Given the description of an element on the screen output the (x, y) to click on. 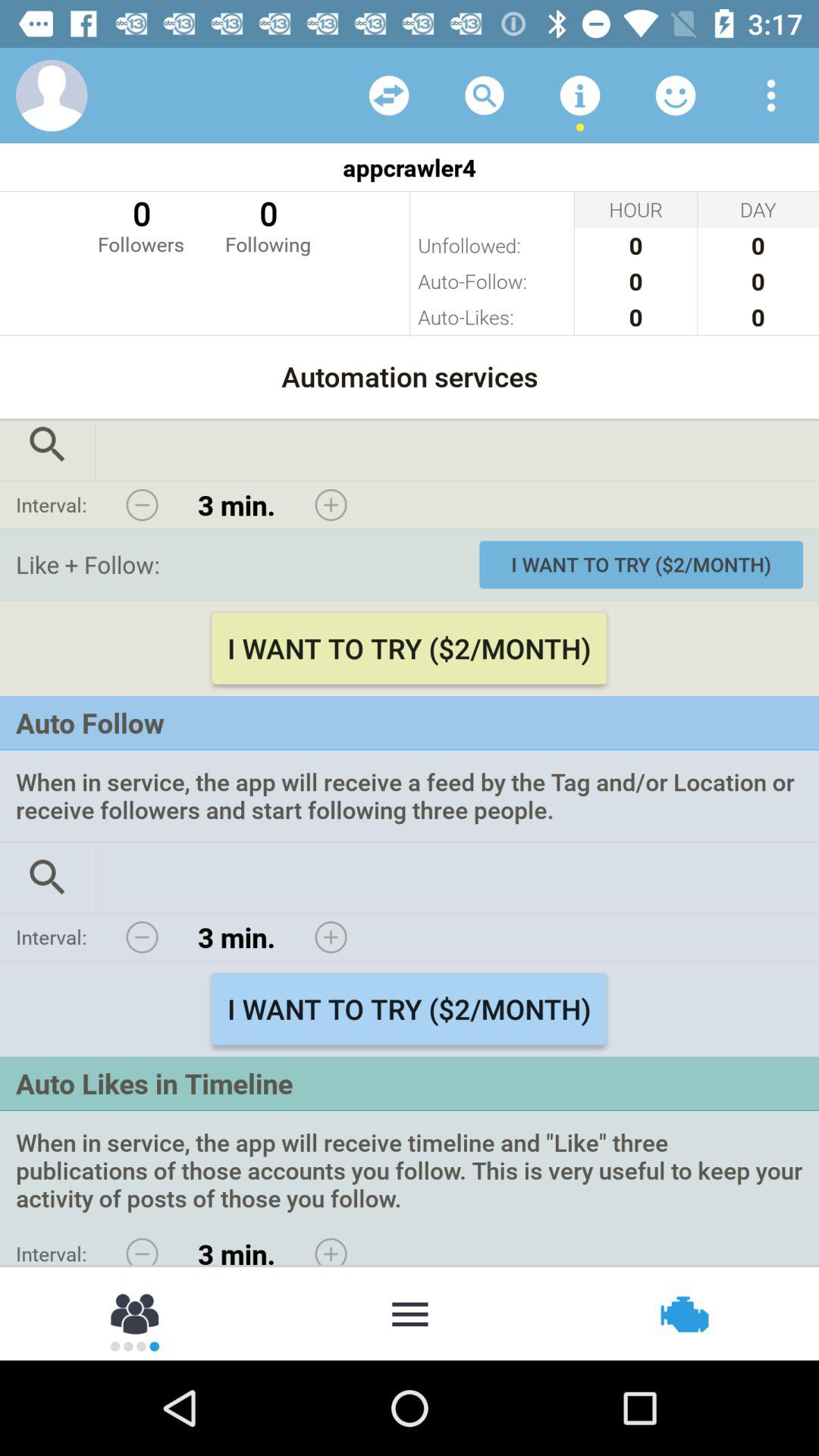
increase time (330, 937)
